Given the description of an element on the screen output the (x, y) to click on. 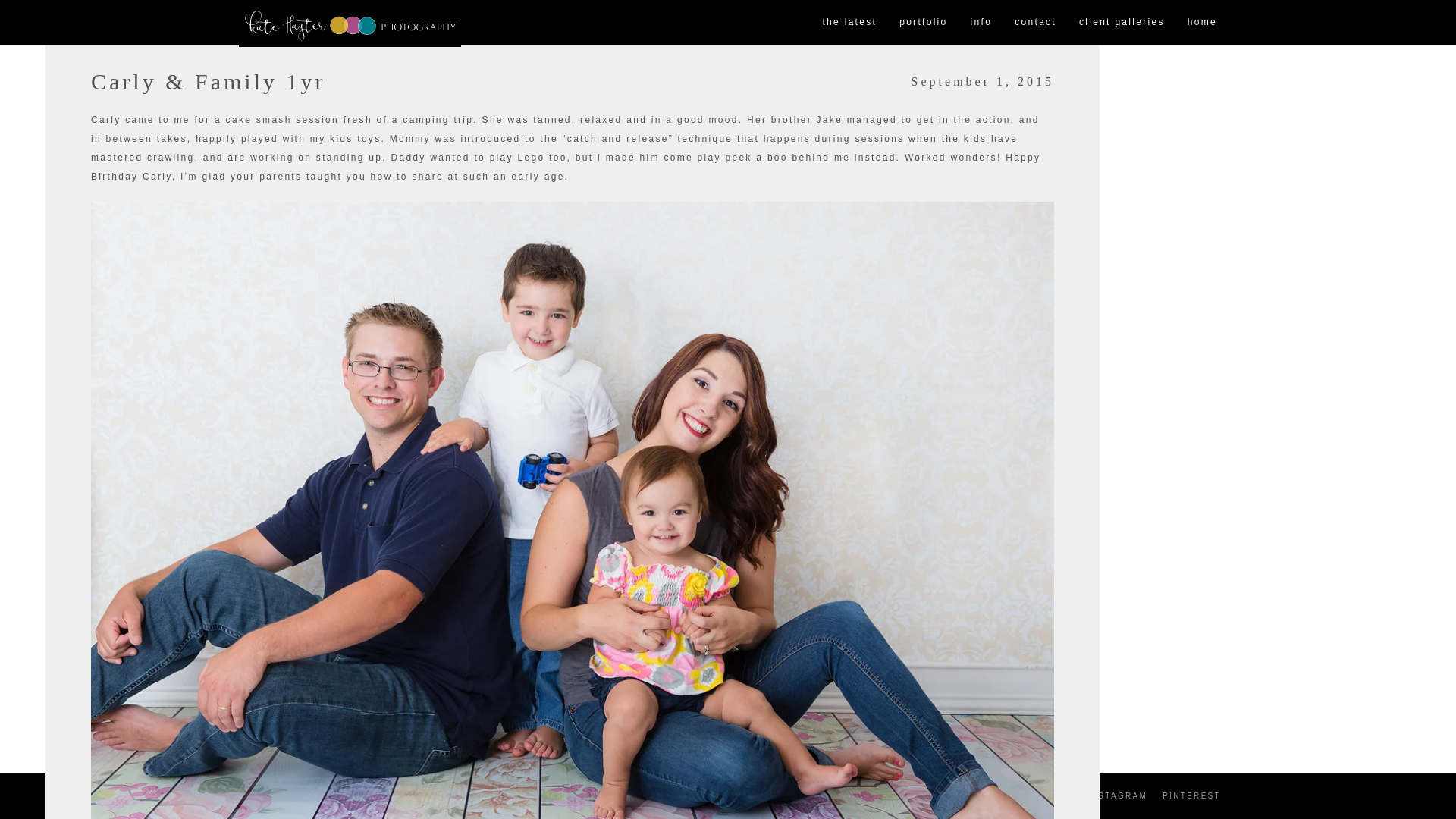
home (1202, 22)
the latest (849, 22)
info (981, 22)
portfolio (923, 22)
INSTAGRAM (1117, 796)
client galleries (1121, 22)
FACEBOOK (1043, 796)
PINTEREST (1191, 796)
contact (1035, 22)
